Given the description of an element on the screen output the (x, y) to click on. 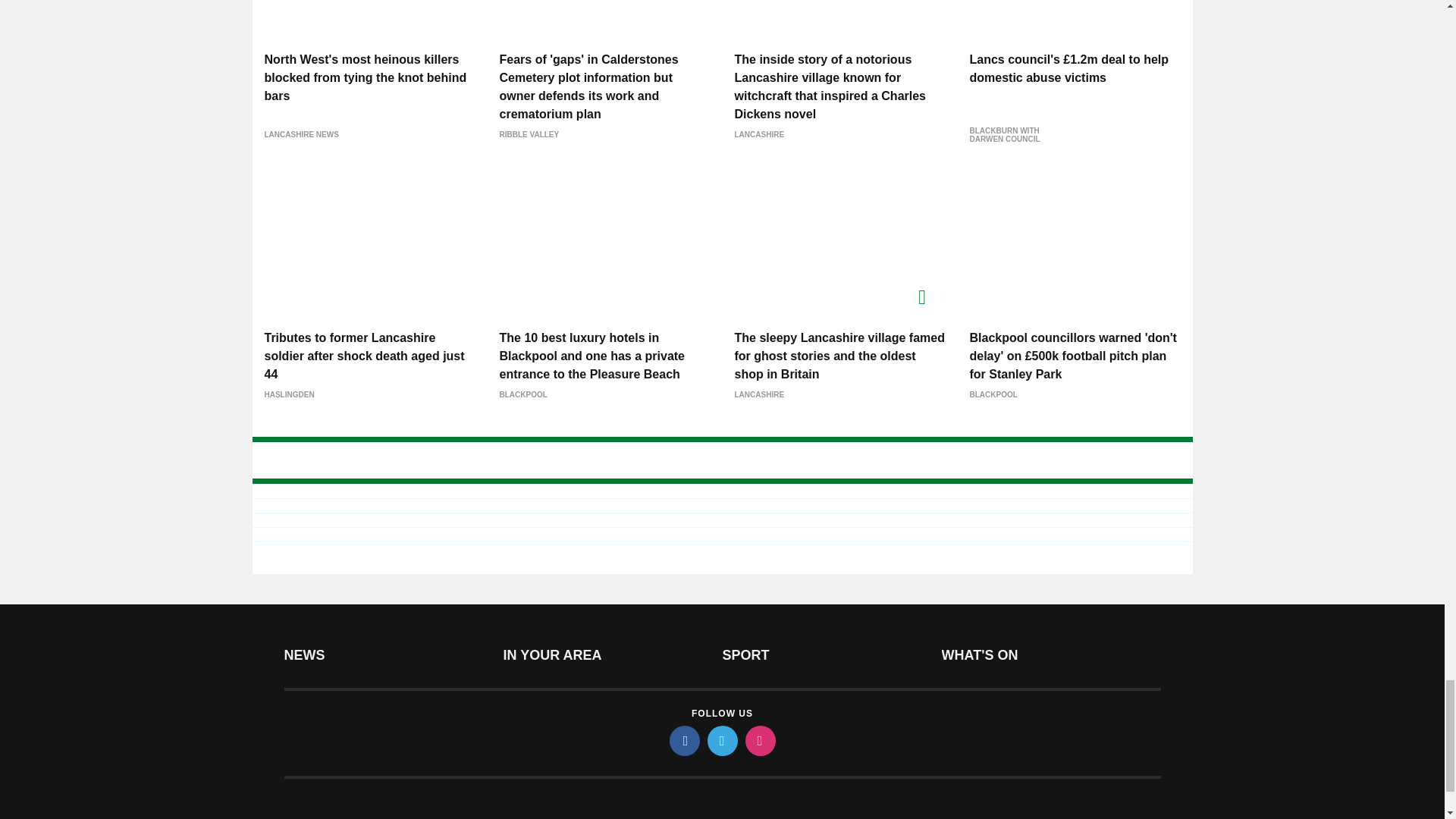
instagram (759, 740)
twitter (721, 740)
facebook (683, 740)
